Given the description of an element on the screen output the (x, y) to click on. 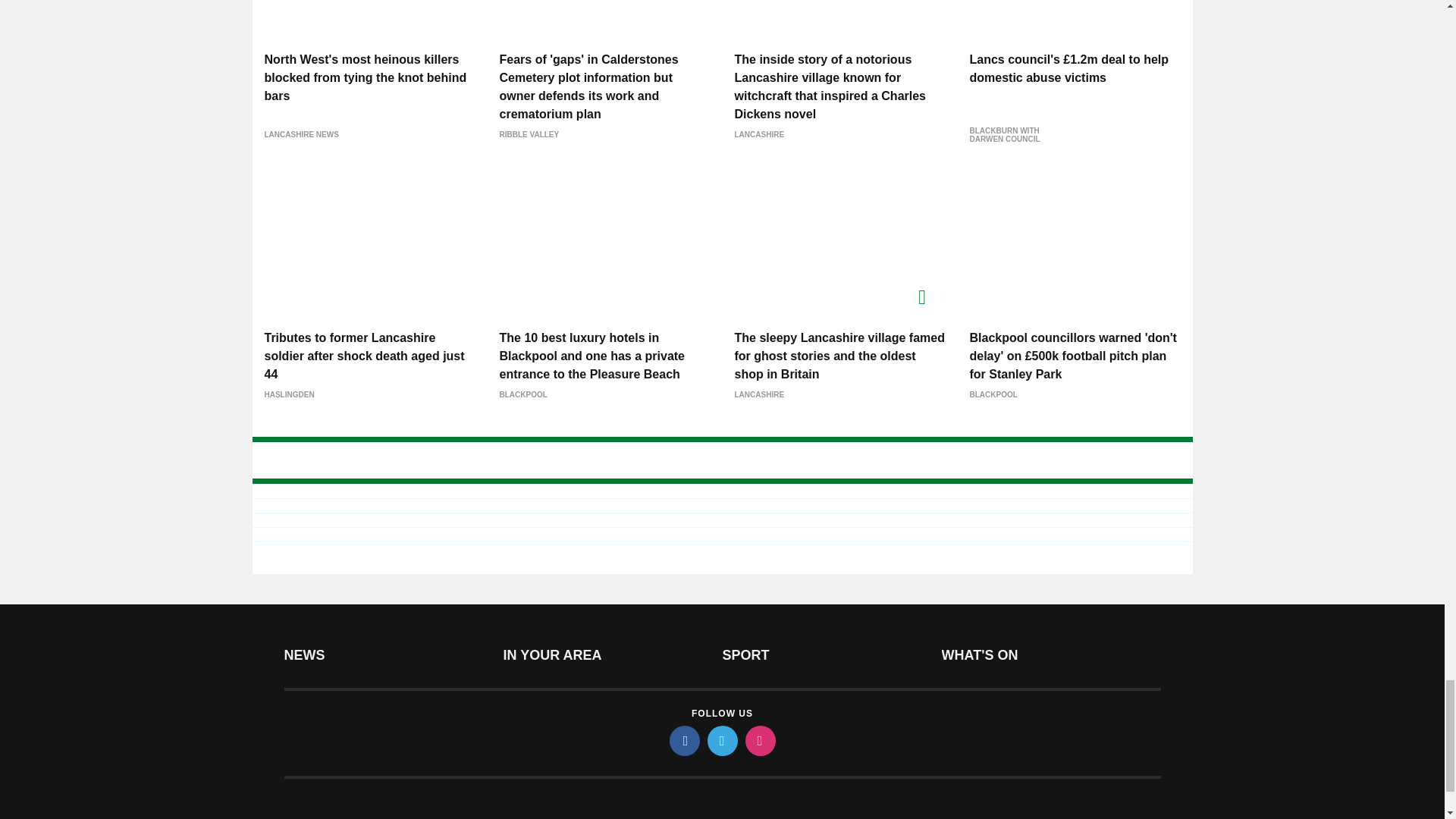
instagram (759, 740)
twitter (721, 740)
facebook (683, 740)
